Given the description of an element on the screen output the (x, y) to click on. 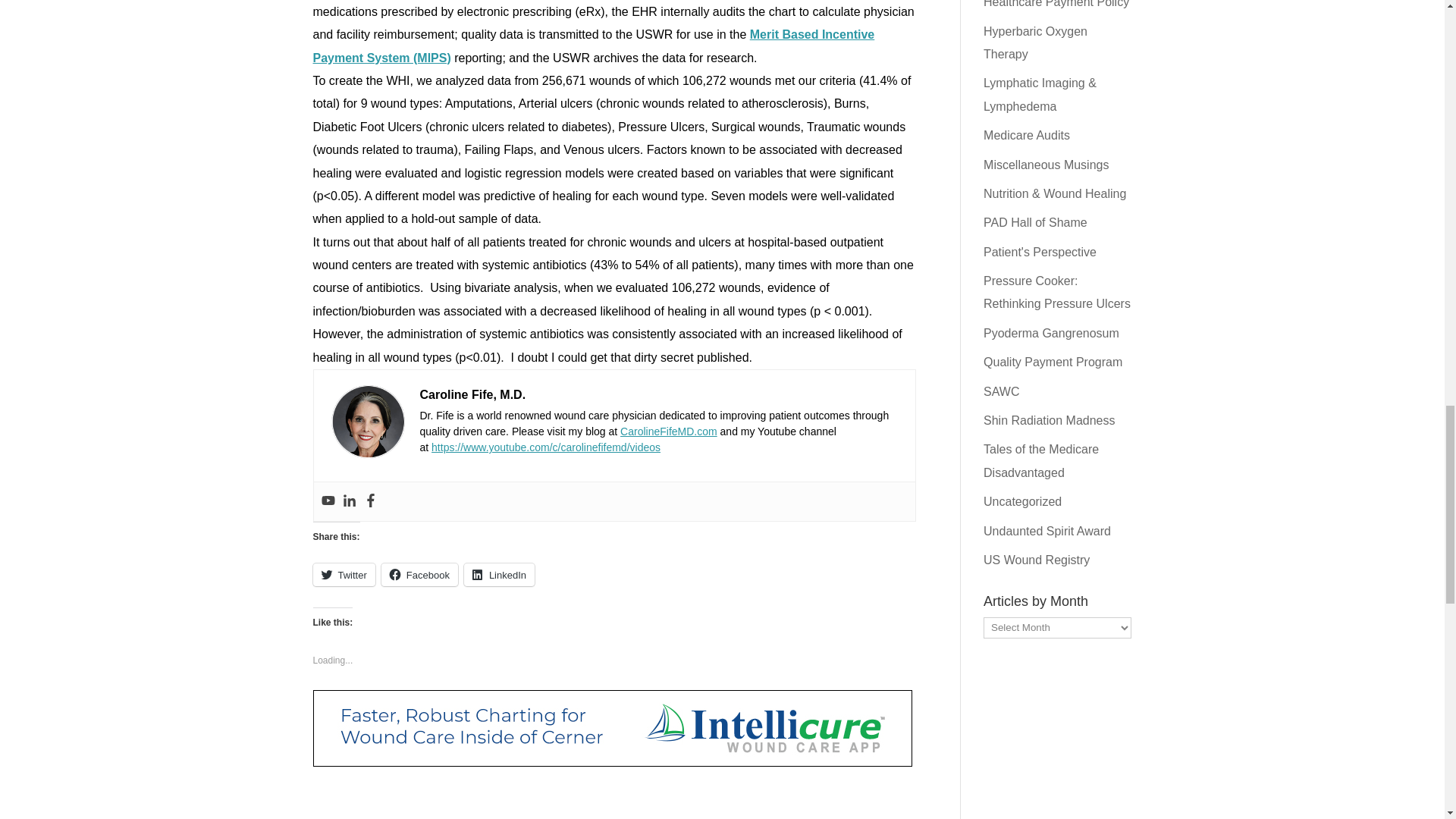
Youtube (327, 501)
Linkedin (349, 501)
Facebook (370, 501)
Click to share on LinkedIn (499, 574)
Click to share on Facebook (419, 574)
Click to share on Twitter (343, 574)
